Given the description of an element on the screen output the (x, y) to click on. 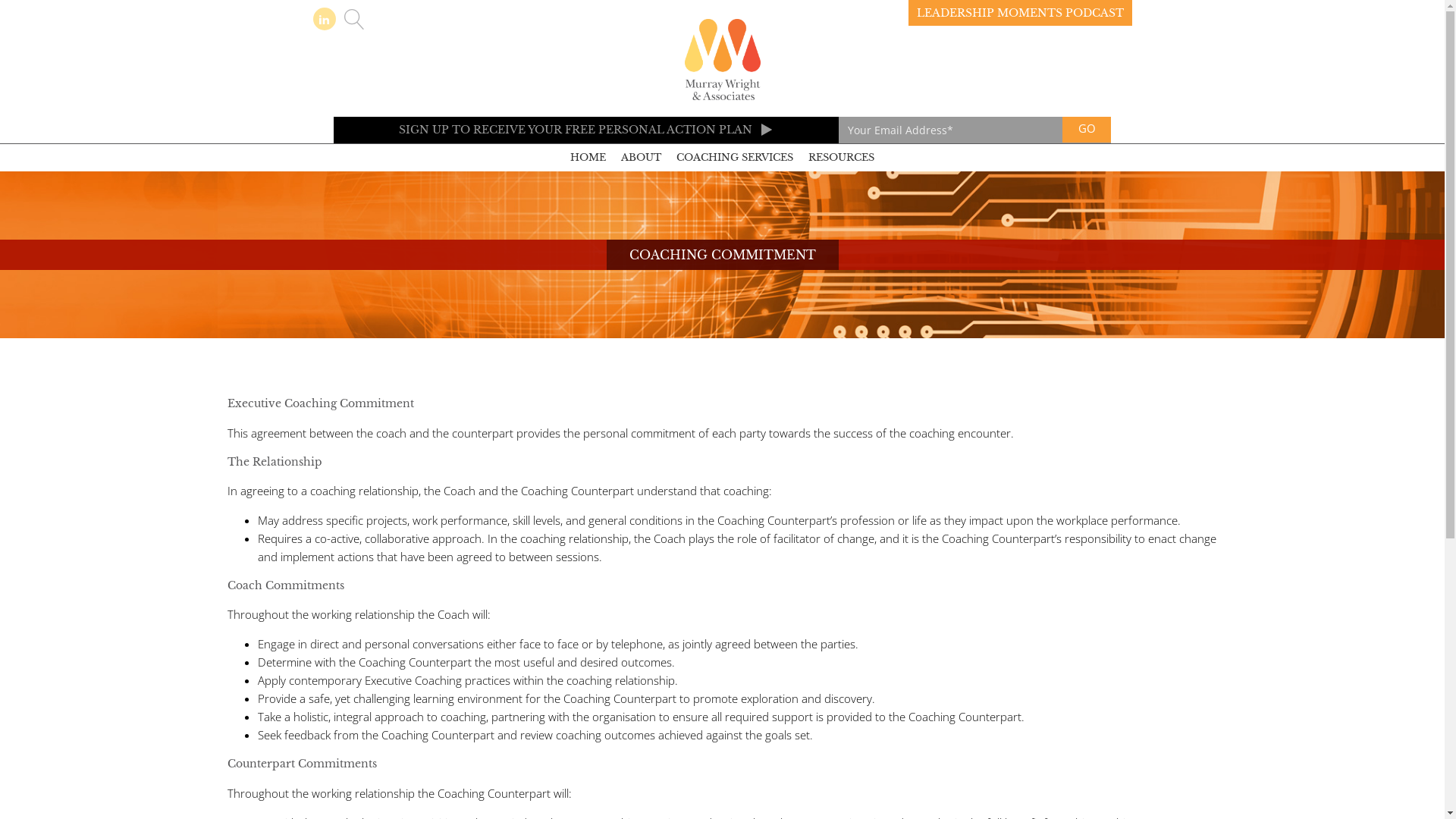
Go Element type: text (1086, 129)
COACHING SERVICES Element type: text (734, 158)
RESOURCES Element type: text (840, 158)
LEADERSHIP MOMENTS PODCAST Element type: text (1020, 12)
HOME Element type: text (587, 158)
ABOUT Element type: text (640, 158)
